Given the description of an element on the screen output the (x, y) to click on. 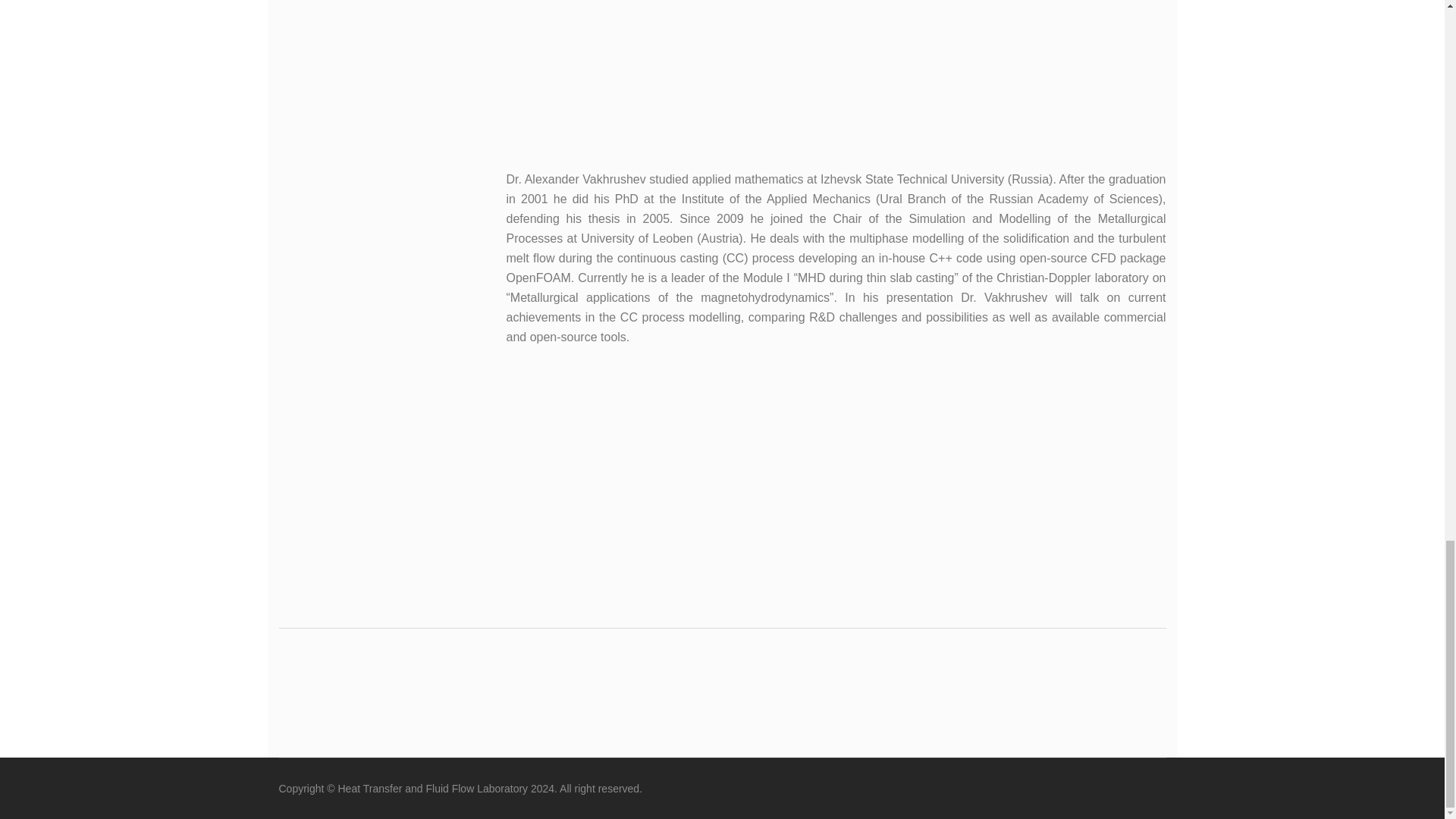
Clipboard0411 (835, 487)
Clipboard011 (340, 230)
Clipboard01 (833, 71)
